Given the description of an element on the screen output the (x, y) to click on. 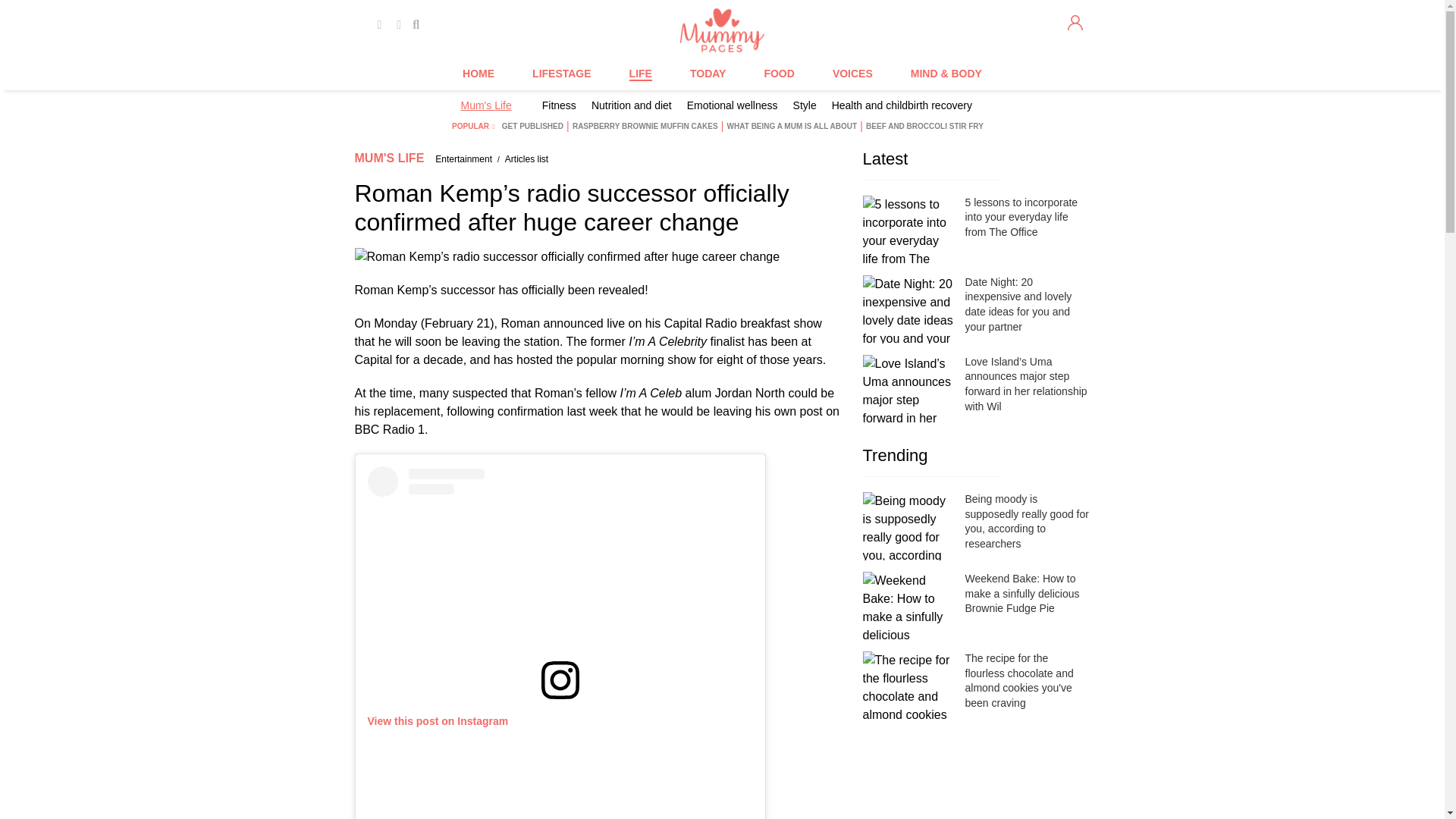
LIFE (640, 73)
HOME (478, 73)
LIFESTAGE (561, 73)
FOOD (778, 73)
TODAY (707, 73)
